Given the description of an element on the screen output the (x, y) to click on. 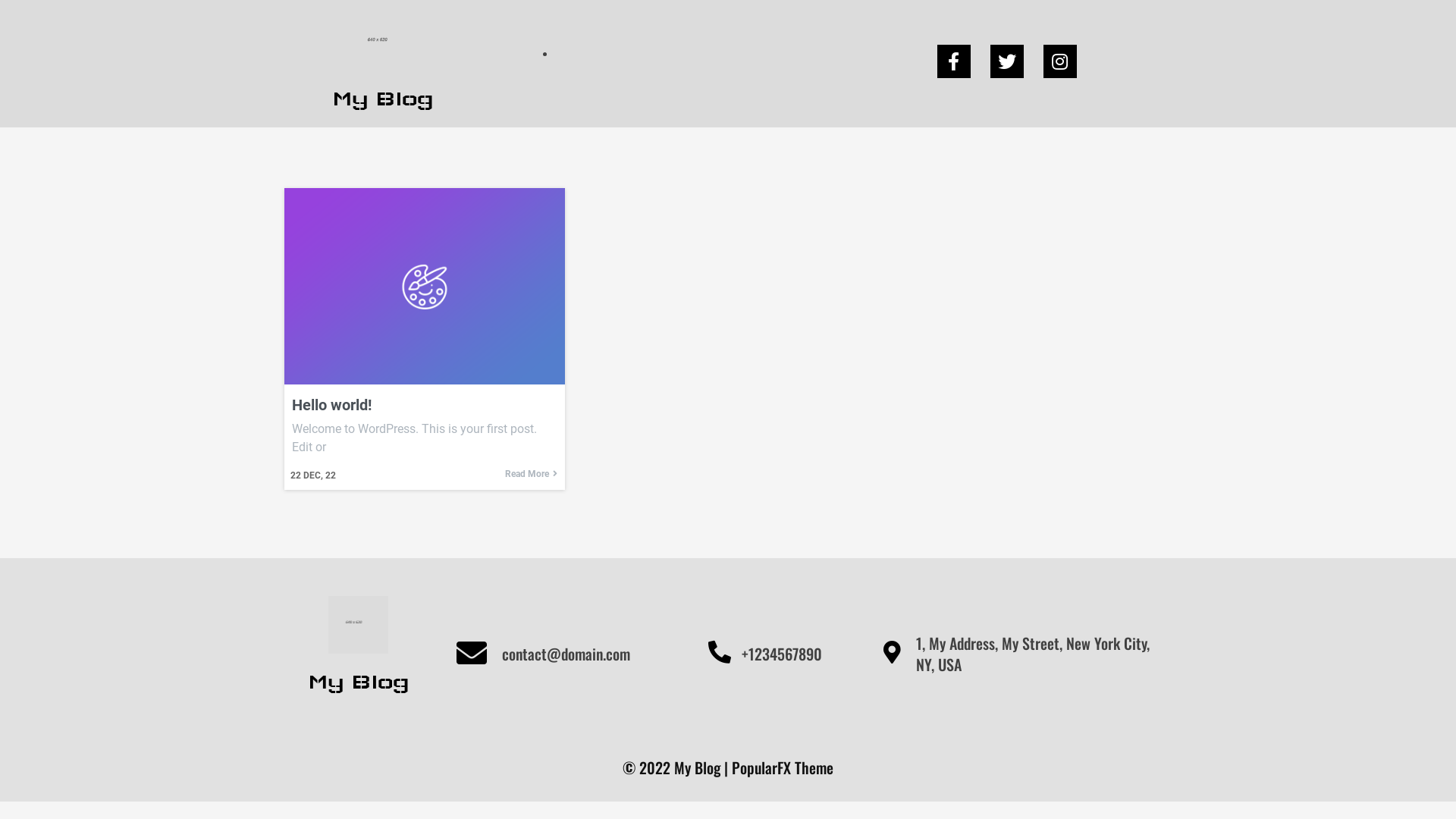
My Blog Element type: text (357, 653)
My Blog Element type: text (382, 63)
logo Element type: hover (358, 624)
PopularFX Theme Element type: text (782, 767)
Hello world! Element type: text (424, 404)
logo Element type: hover (382, 42)
Read More Element type: text (531, 473)
